Given the description of an element on the screen output the (x, y) to click on. 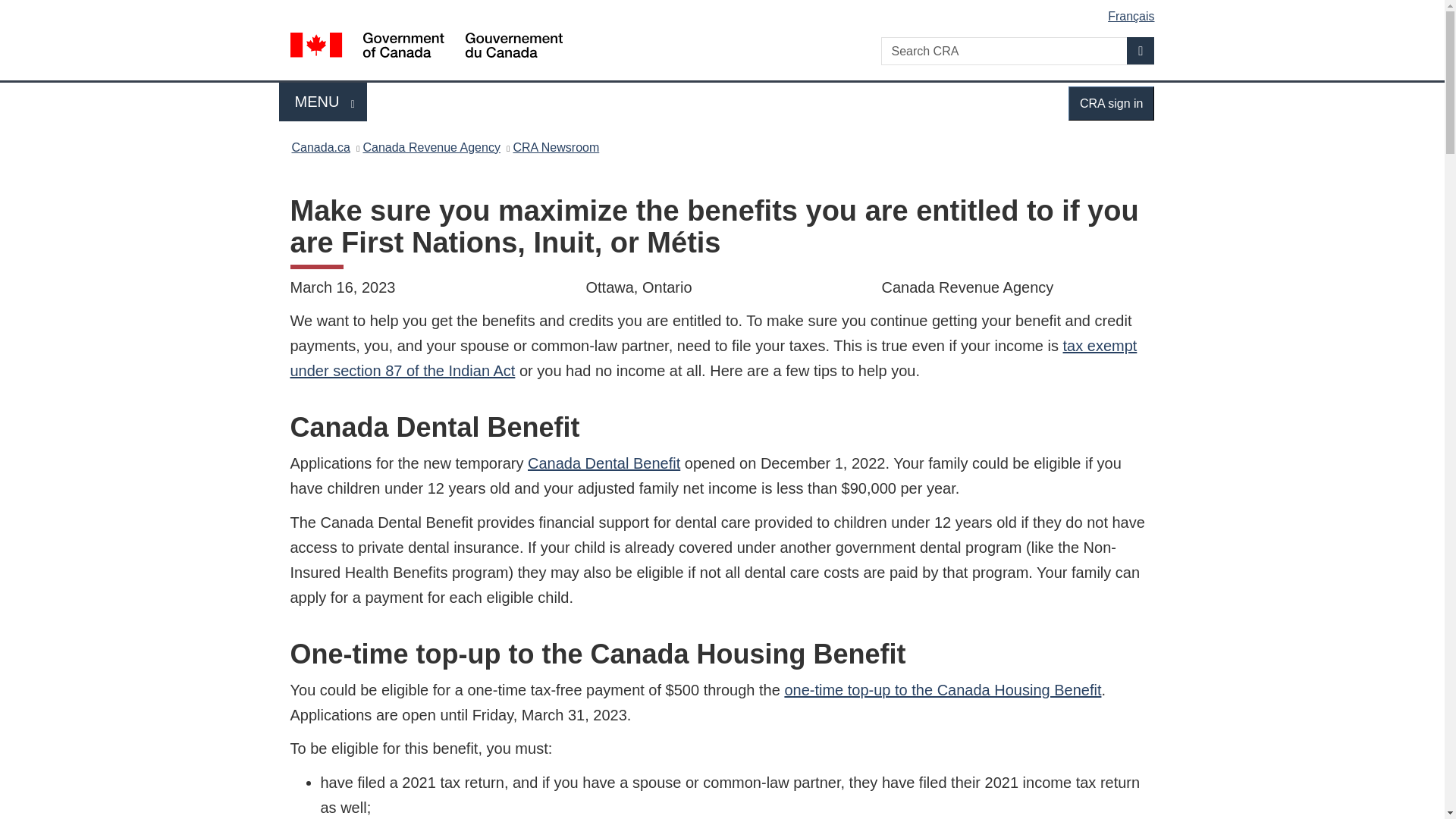
tax exempt under section 87 of the Indian Act (713, 358)
Canada Revenue Agency (430, 147)
Skip to main content (322, 101)
CRA sign in (725, 11)
one-time top-up to the Canada Housing Benefit (1111, 103)
Canada.ca (942, 689)
Search (320, 147)
CRA Newsroom (1140, 50)
Canada Dental Benefit (555, 147)
